Given the description of an element on the screen output the (x, y) to click on. 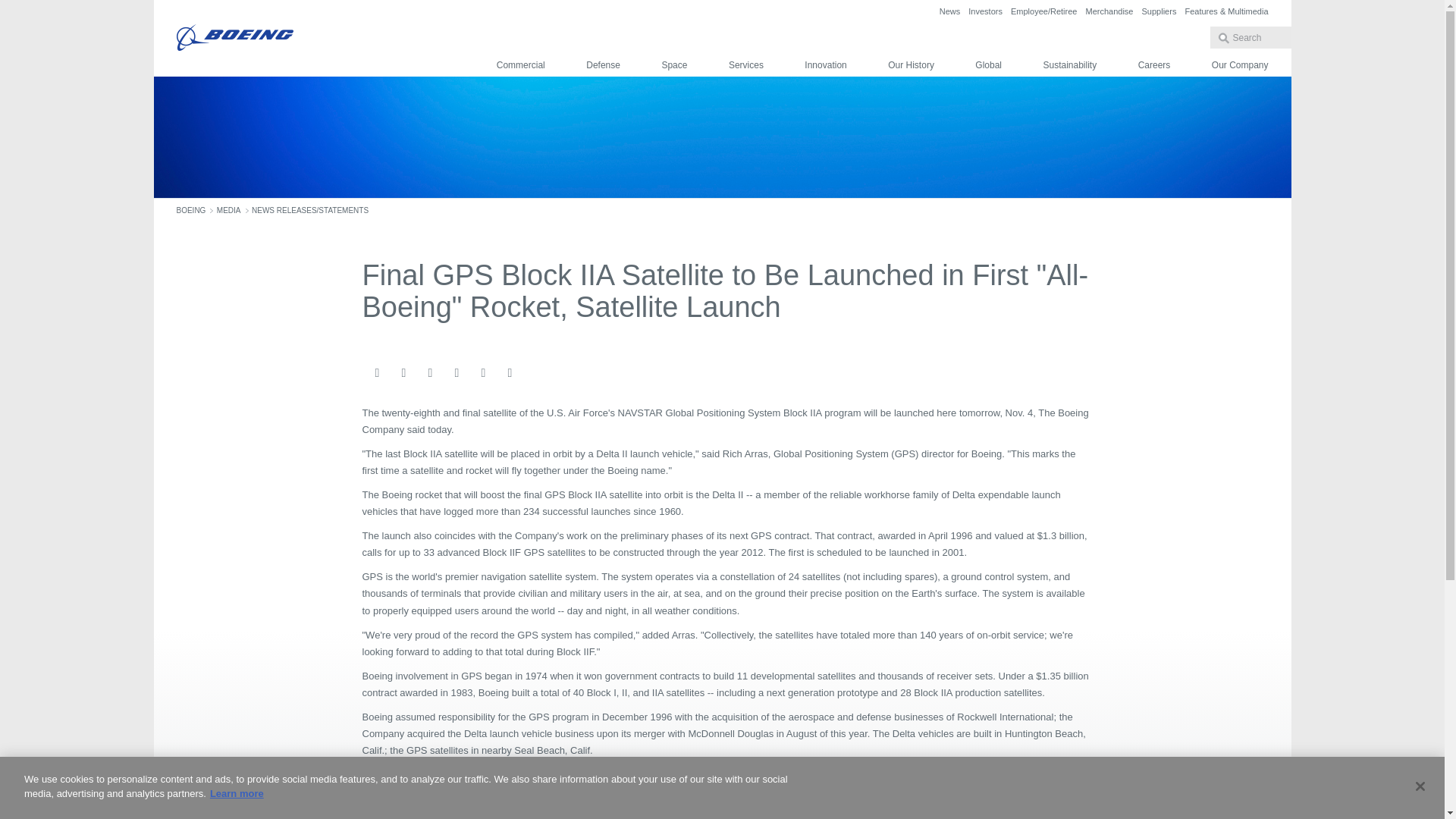
Merchandise (1108, 10)
pdf (535, 372)
News (949, 10)
Defense (603, 65)
Commercial (520, 65)
Boeing (234, 37)
Twitter Share (456, 372)
Suppliers (1158, 10)
rss (510, 372)
Investors (985, 10)
Linkedin Share (430, 372)
print (483, 372)
Facebook Share (403, 372)
email (376, 372)
